Given the description of an element on the screen output the (x, y) to click on. 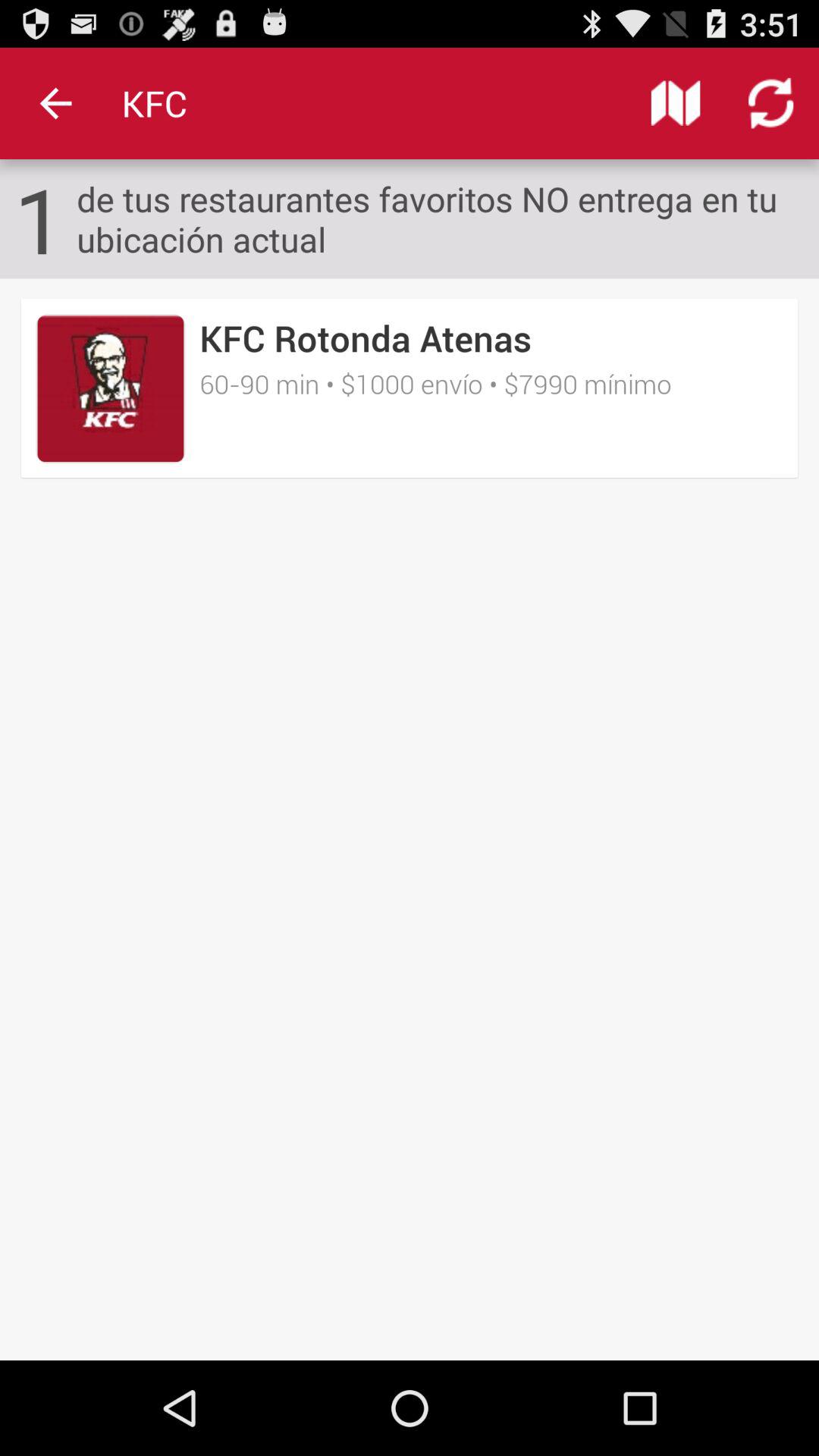
choose icon above de tus restaurantes item (771, 103)
